Given the description of an element on the screen output the (x, y) to click on. 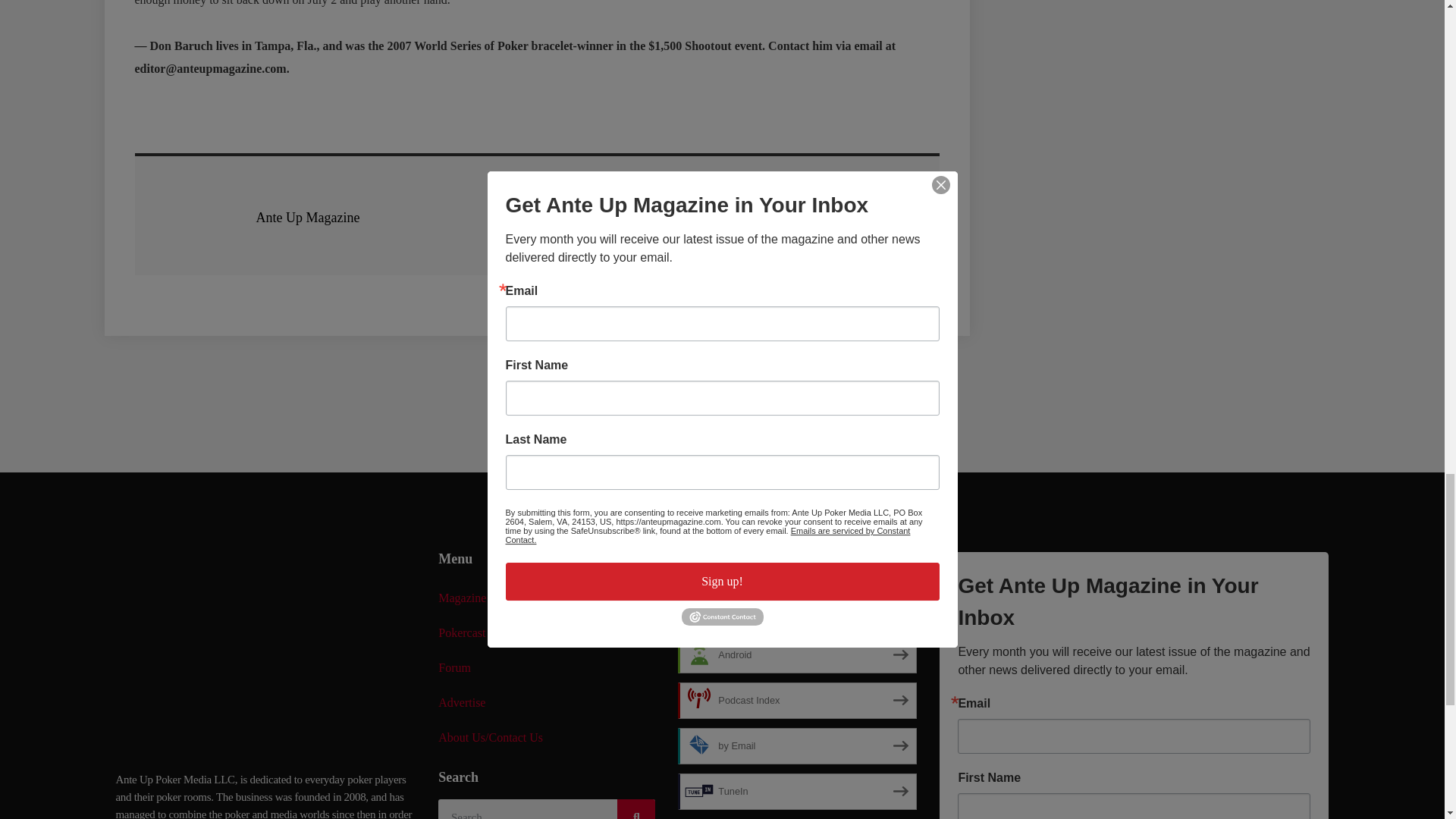
Subscribe on Android (797, 655)
Subscribe by Email (797, 746)
Subscribe on TuneIn (797, 791)
Subscribe on Podcast Index (797, 700)
Subscribe on Apple Podcasts (797, 609)
